Given the description of an element on the screen output the (x, y) to click on. 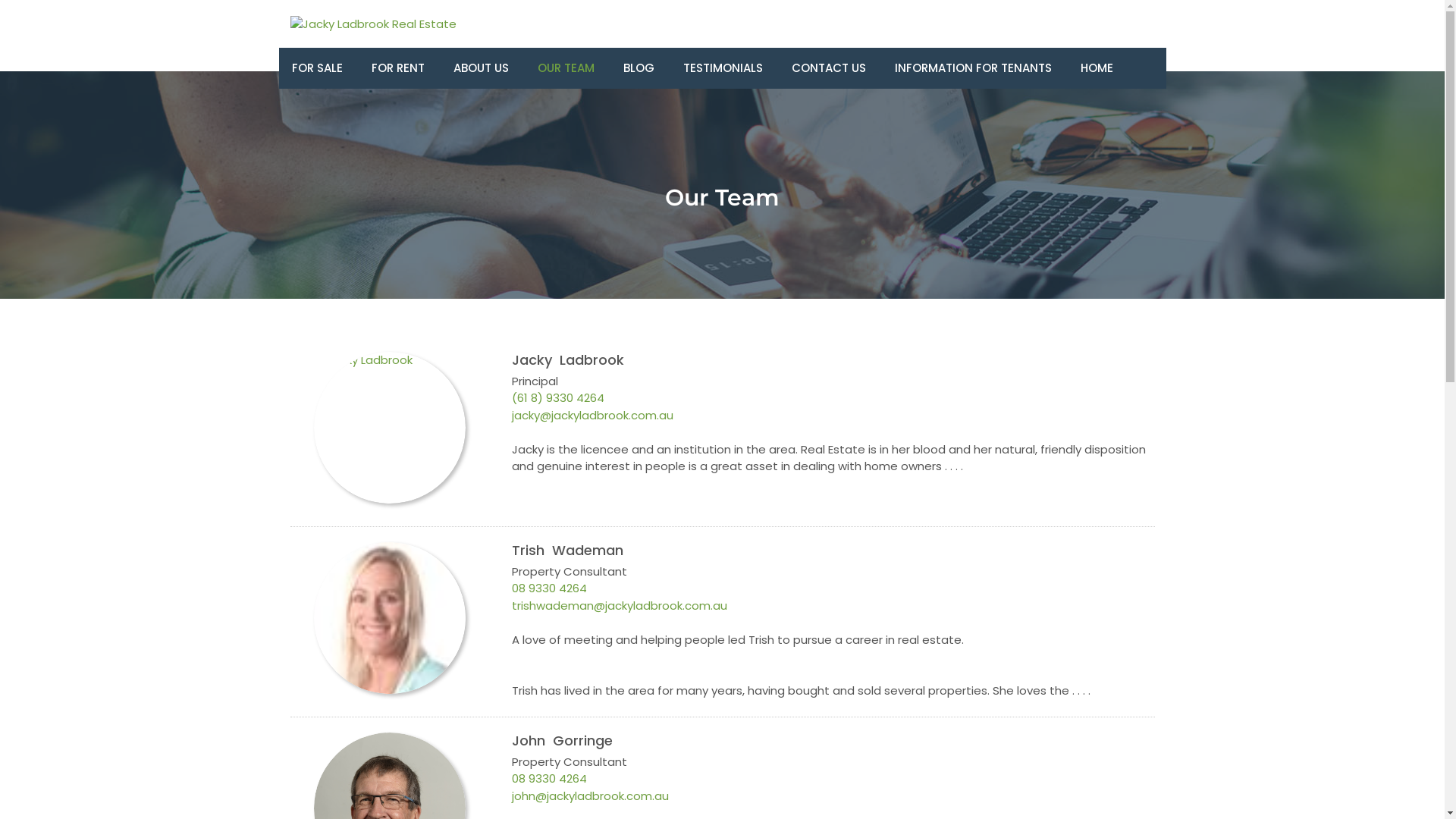
(61 8) 9330 4264 Element type: text (557, 398)
Trish Wademan : Jacky Ladbrook Real Estate Element type: hover (389, 638)
OUR TEAM Element type: text (565, 67)
HOME Element type: text (1096, 67)
INFORMATION FOR TENANTS Element type: text (972, 67)
ABOUT US Element type: text (479, 67)
FOR RENT Element type: text (396, 67)
Trish Wademan Element type: hover (389, 617)
jacky@jackyladbrook.com.au Element type: text (592, 415)
trishwademan@jackyladbrook.com.au Element type: text (619, 606)
BLOG Element type: text (637, 67)
john@jackyladbrook.com.au Element type: text (589, 796)
Jacky Ladbrook Real Estate Element type: hover (372, 24)
08 9330 4264 Element type: text (548, 588)
FOR SALE Element type: text (317, 67)
Jacky Ladbrook Element type: hover (389, 427)
08 9330 4264 Element type: text (548, 778)
TESTIMONIALS Element type: text (722, 67)
Jacky Ladbrook Real Estate Element type: hover (372, 23)
Jacky Ladbrook : Jacky Ladbrook Real Estate Element type: hover (389, 360)
CONTACT US Element type: text (828, 67)
